Given the description of an element on the screen output the (x, y) to click on. 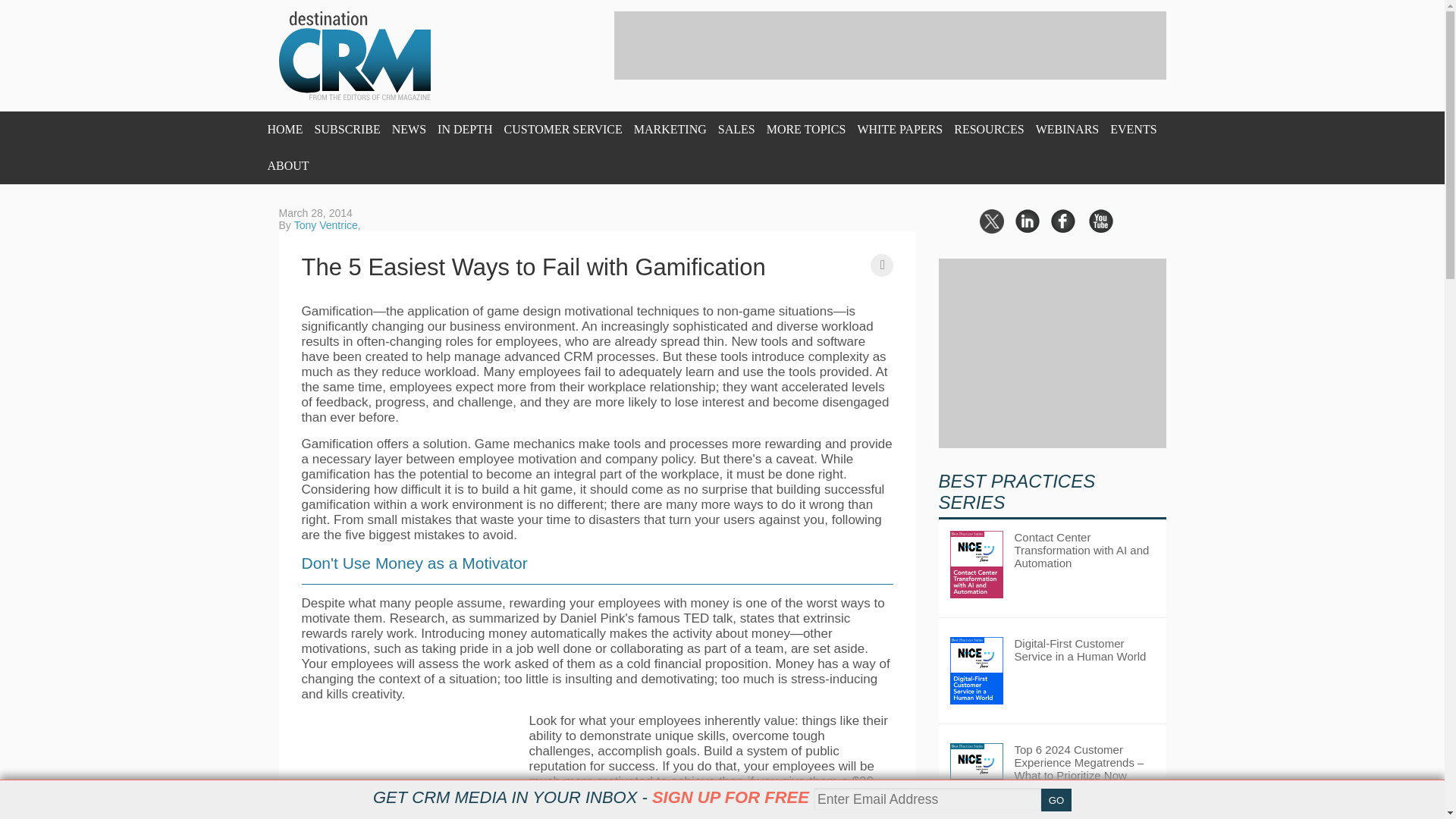
GO (1056, 799)
HOME (284, 129)
SUBSCRIBE (347, 129)
Sales (736, 129)
NEWS (408, 129)
Marketing (669, 129)
RESOURCES (988, 129)
3rd party ad content (890, 45)
WHITE PAPERS (899, 129)
GET CRM MEDIA IN YOUR INBOX - SIGN UP FOR FREE (590, 797)
